Given the description of an element on the screen output the (x, y) to click on. 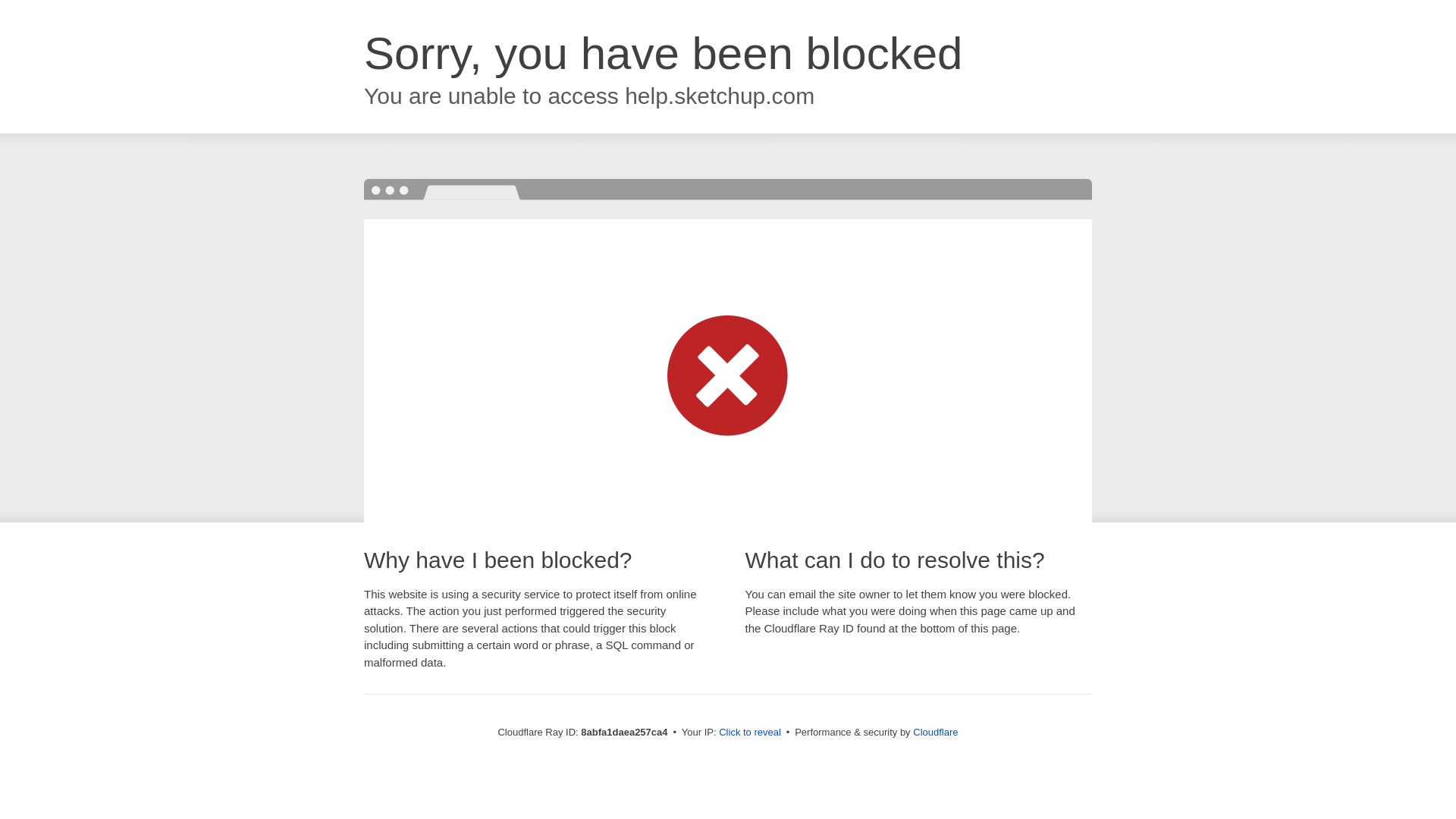
Cloudflare (935, 731)
Click to reveal (749, 732)
